Given the description of an element on the screen output the (x, y) to click on. 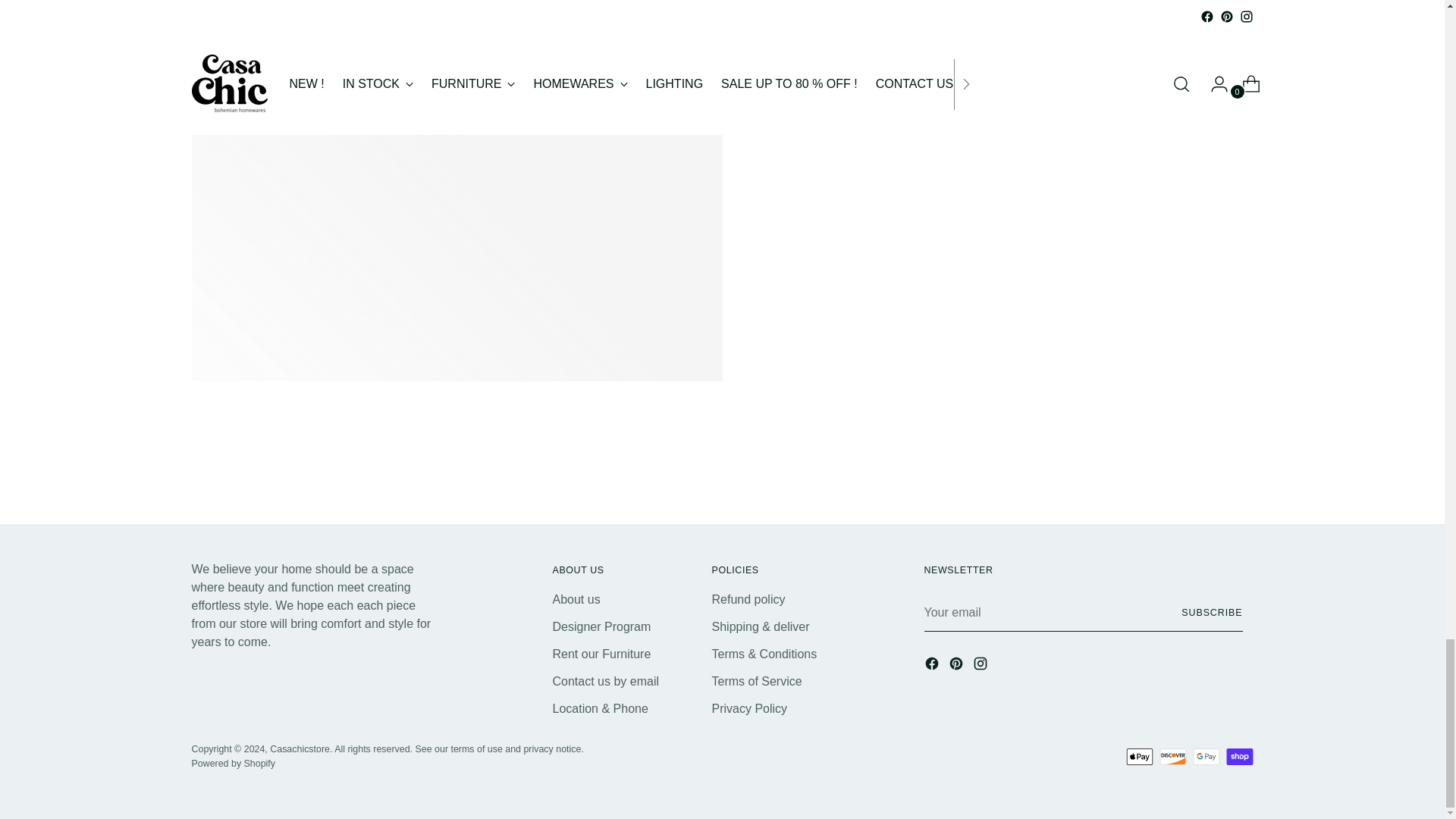
Casachicstore on Pinterest (956, 666)
